Given the description of an element on the screen output the (x, y) to click on. 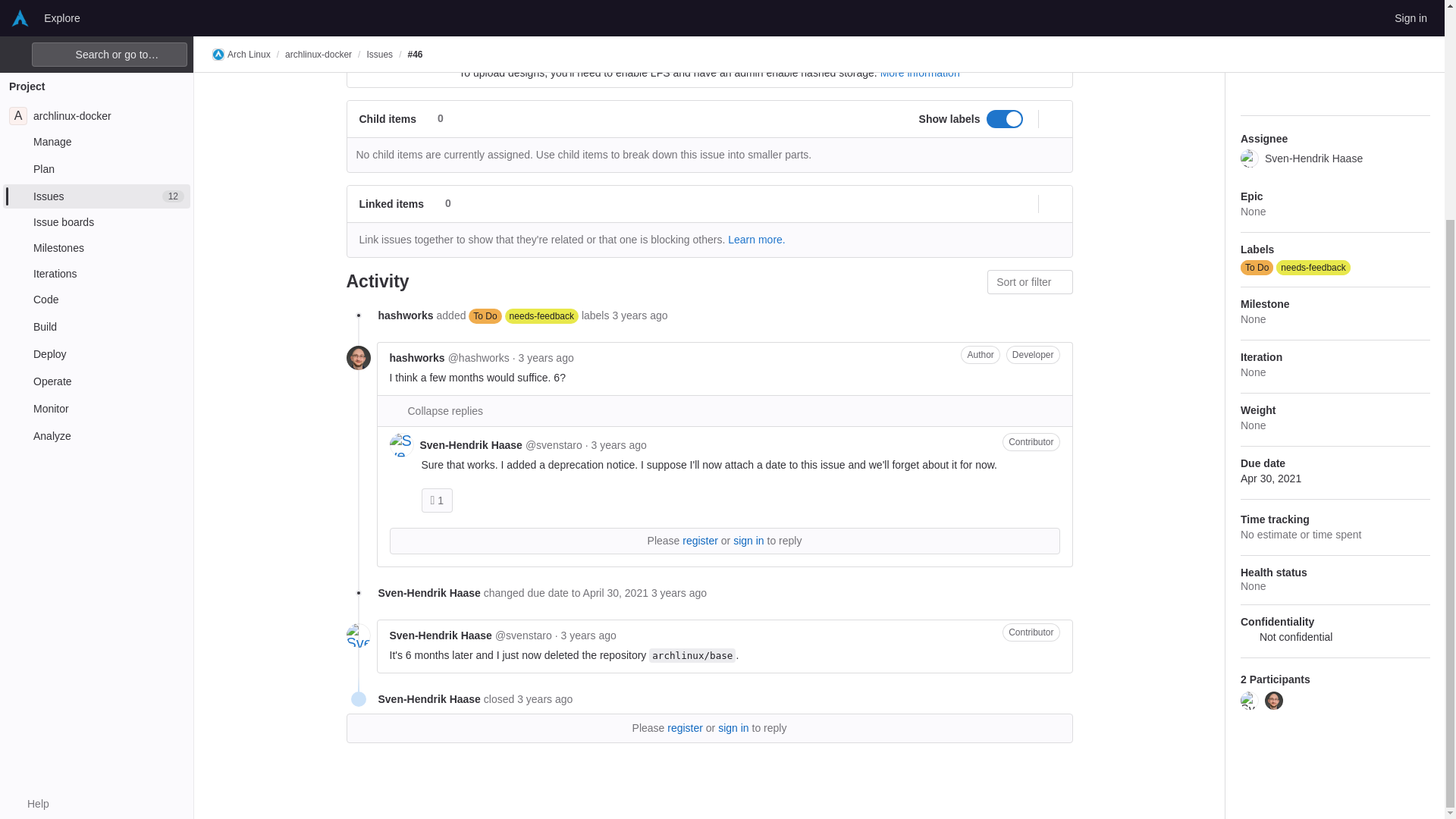
Monitor (96, 118)
Code (96, 10)
This user is the author of this issue. (979, 353)
Build (96, 36)
Operate (96, 90)
Deploy (96, 63)
hashworks reacted with :thumbsup: (437, 499)
